Given the description of an element on the screen output the (x, y) to click on. 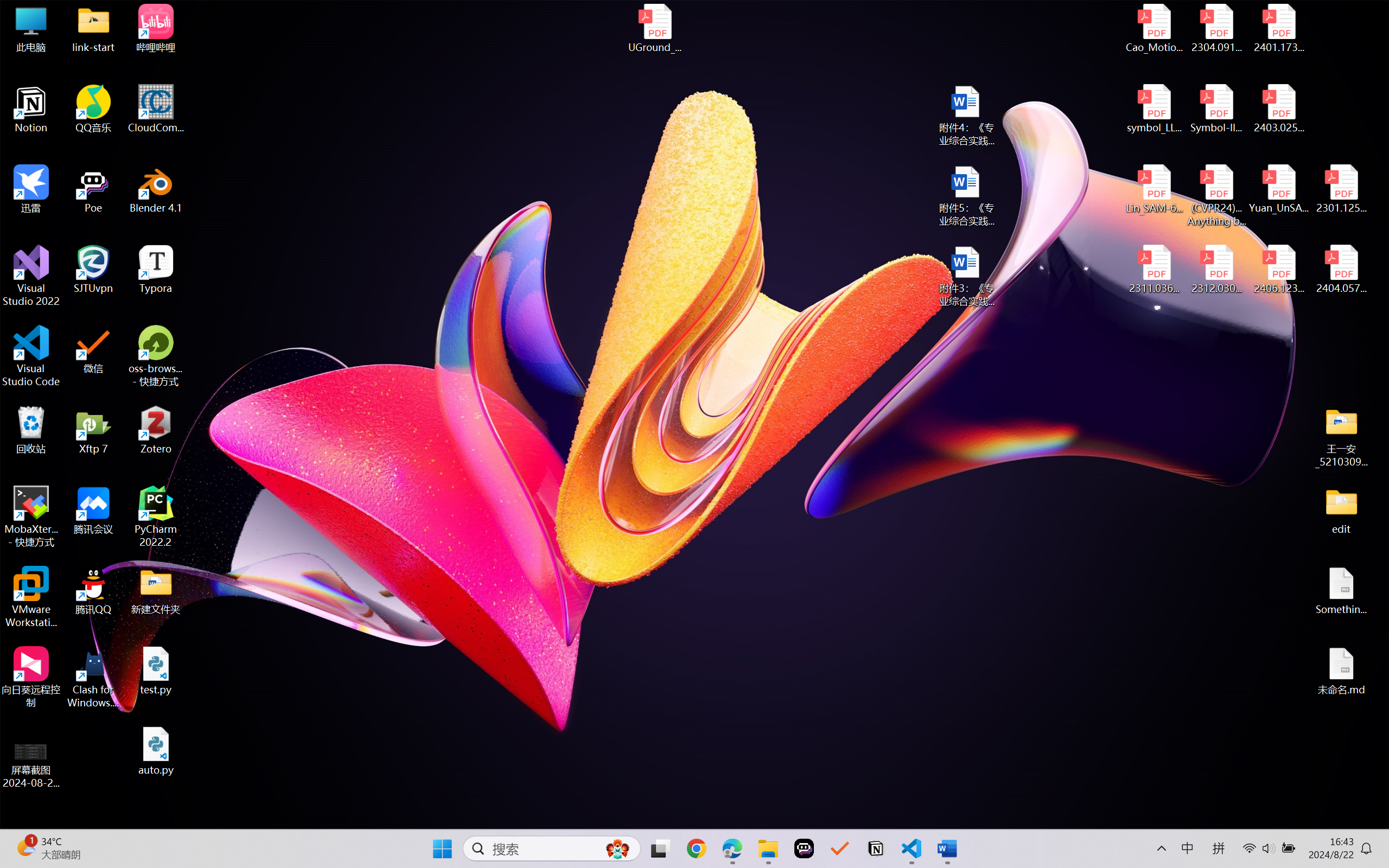
symbol_LLM.pdf (1154, 109)
test.py (156, 670)
PyCharm 2022.2 (156, 516)
2401.17399v1.pdf (1278, 28)
SJTUvpn (93, 269)
UGround_paper.pdf (654, 28)
edit (1340, 510)
